Given the description of an element on the screen output the (x, y) to click on. 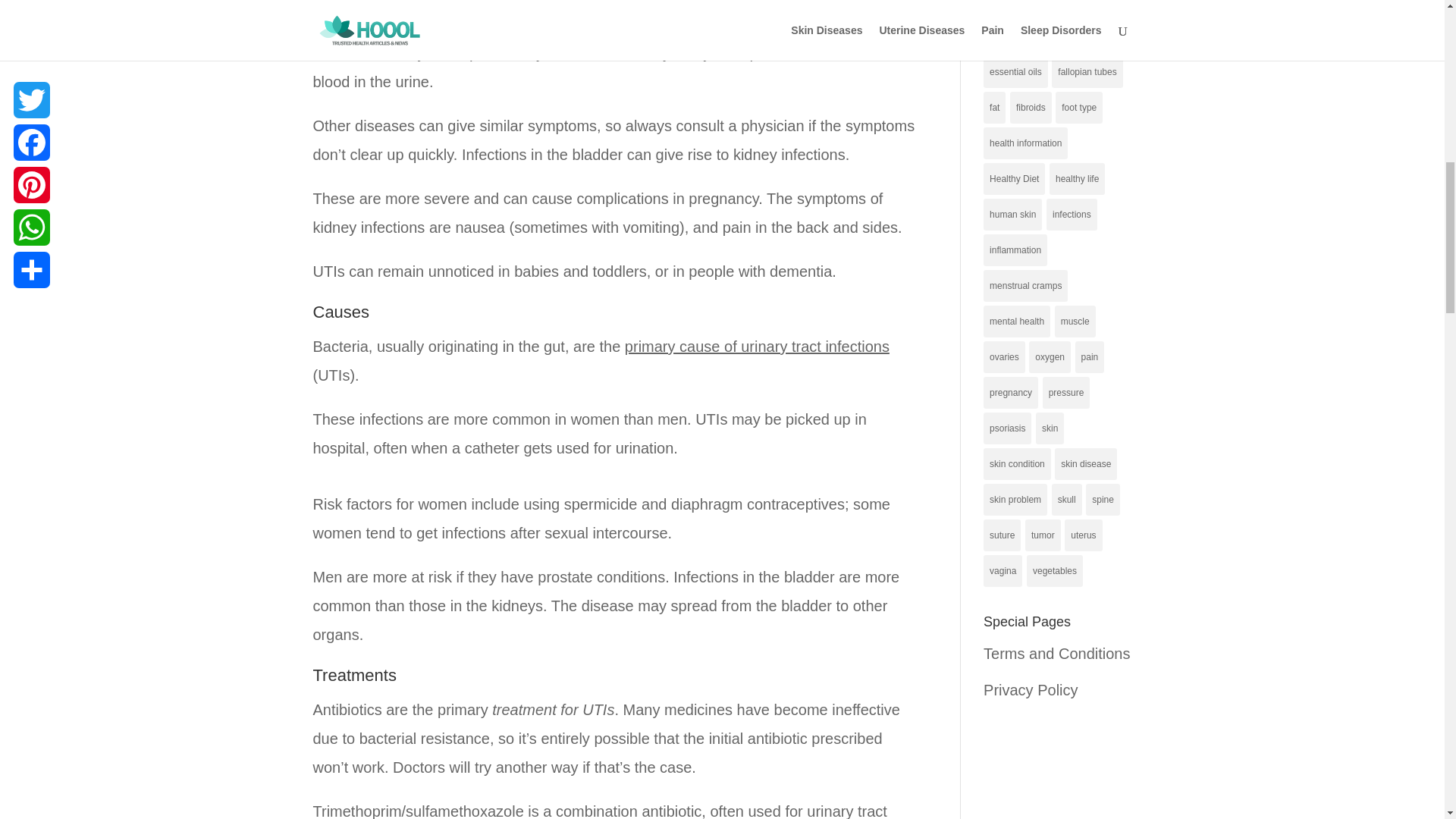
eczema (1005, 36)
healthy life (1077, 178)
infections (1071, 214)
human skin (1013, 214)
inflammation (1015, 250)
fibroids (1030, 107)
fallopian tubes (1086, 71)
health information (1025, 142)
essential oils (1016, 71)
dermatitis (1009, 8)
muscle (1075, 321)
ovaries (1004, 357)
diarrhea (1061, 8)
menstrual cramps (1025, 286)
diet (1102, 8)
